Given the description of an element on the screen output the (x, y) to click on. 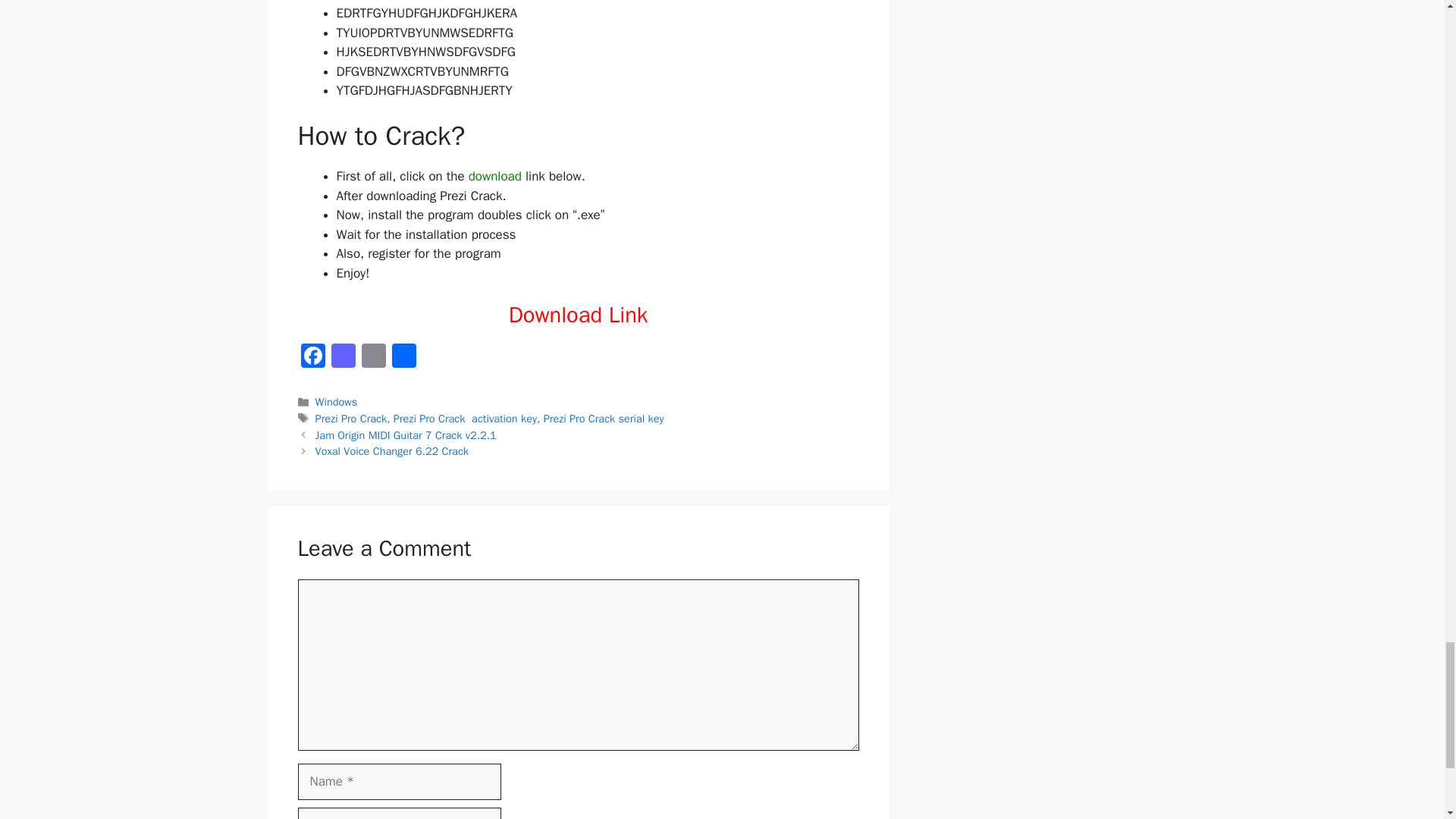
Voxal Voice Changer 6.22 Crack (391, 450)
Email (373, 357)
Download Link (577, 315)
Facebook (312, 357)
Facebook (312, 357)
Prezi Pro Crack (351, 418)
Prezi Pro Crack serial key (603, 418)
Windows (336, 401)
Prezi Pro Crack  activation key (465, 418)
Jam Origin MIDI Guitar 7 Crack v2.2.1 (405, 435)
